Given the description of an element on the screen output the (x, y) to click on. 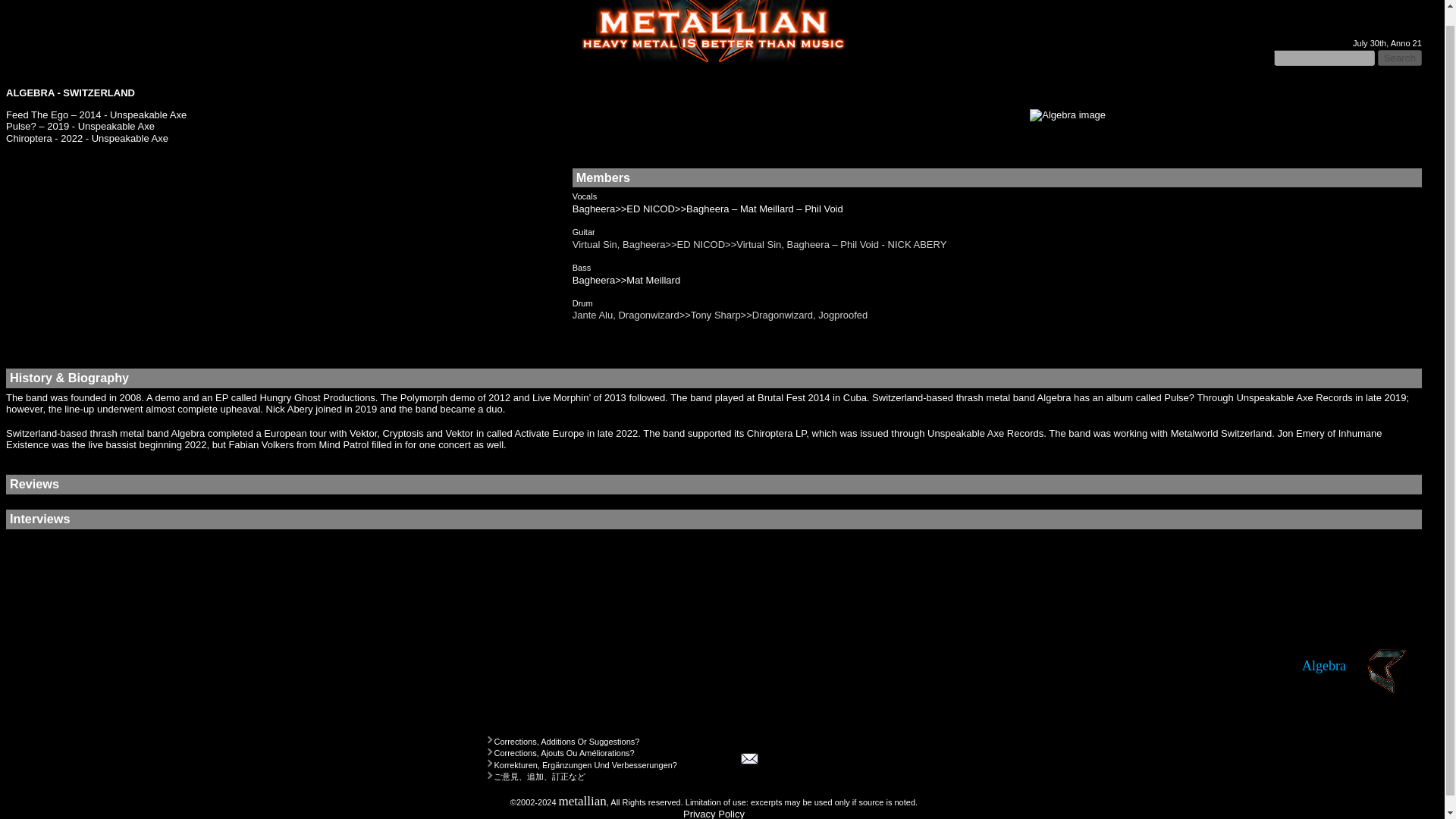
metallian (583, 800)
